Given the description of an element on the screen output the (x, y) to click on. 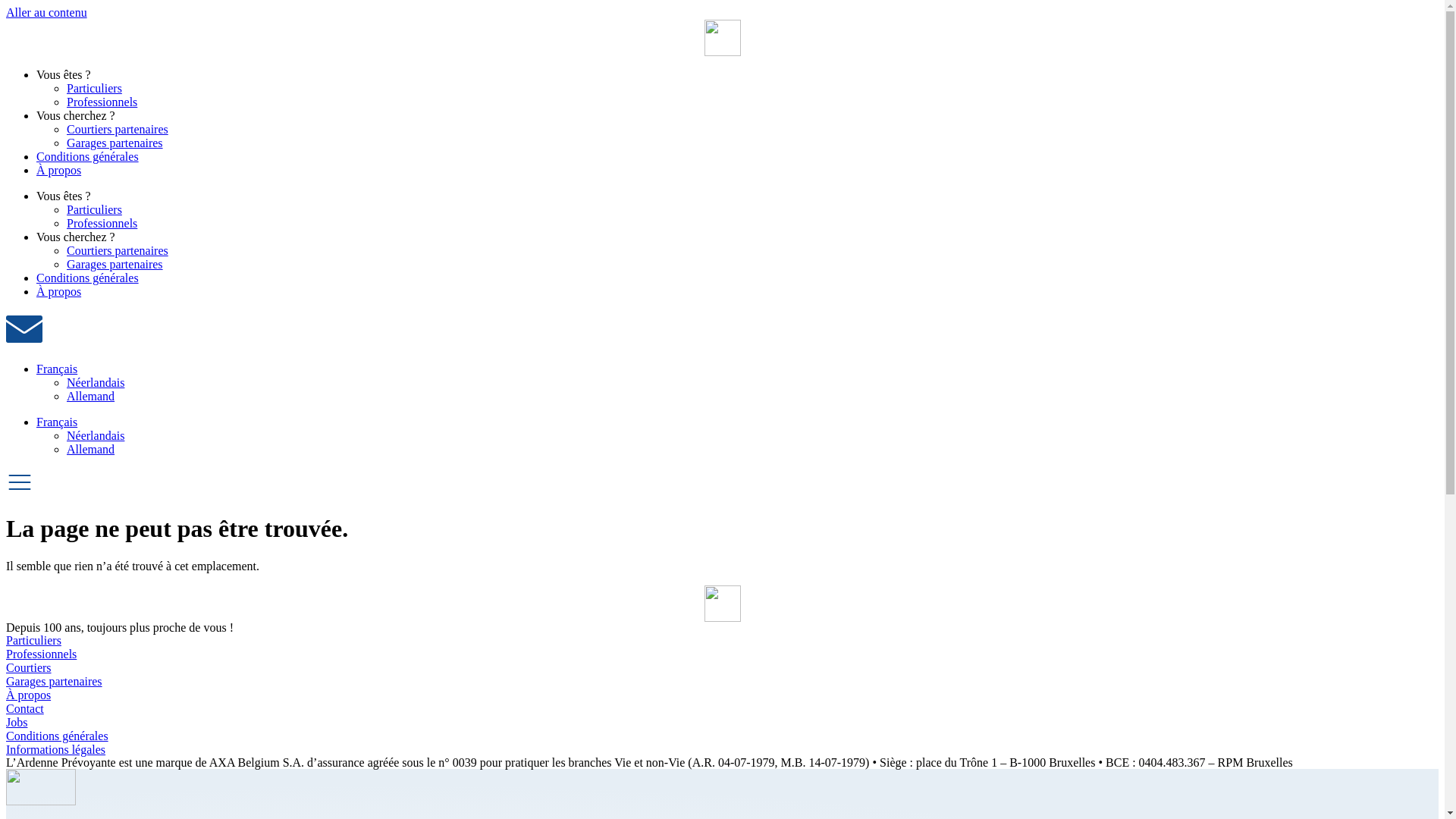
Vous cherchez ? Element type: text (75, 115)
Particuliers Element type: text (94, 209)
Garages partenaires Element type: text (722, 681)
Courtiers Element type: text (722, 667)
Aller au contenu Element type: text (46, 12)
Professionnels Element type: text (101, 222)
Jobs Element type: text (722, 722)
Professionnels Element type: text (101, 101)
Garages partenaires Element type: text (114, 142)
Contact Element type: text (722, 708)
Professionnels Element type: text (722, 654)
Particuliers Element type: text (722, 640)
Allemand Element type: text (90, 395)
Vous cherchez ? Element type: text (75, 236)
Allemand Element type: text (90, 448)
Courtiers partenaires Element type: text (117, 128)
Garages partenaires Element type: text (114, 263)
Particuliers Element type: text (94, 87)
Courtiers partenaires Element type: text (117, 250)
